Given the description of an element on the screen output the (x, y) to click on. 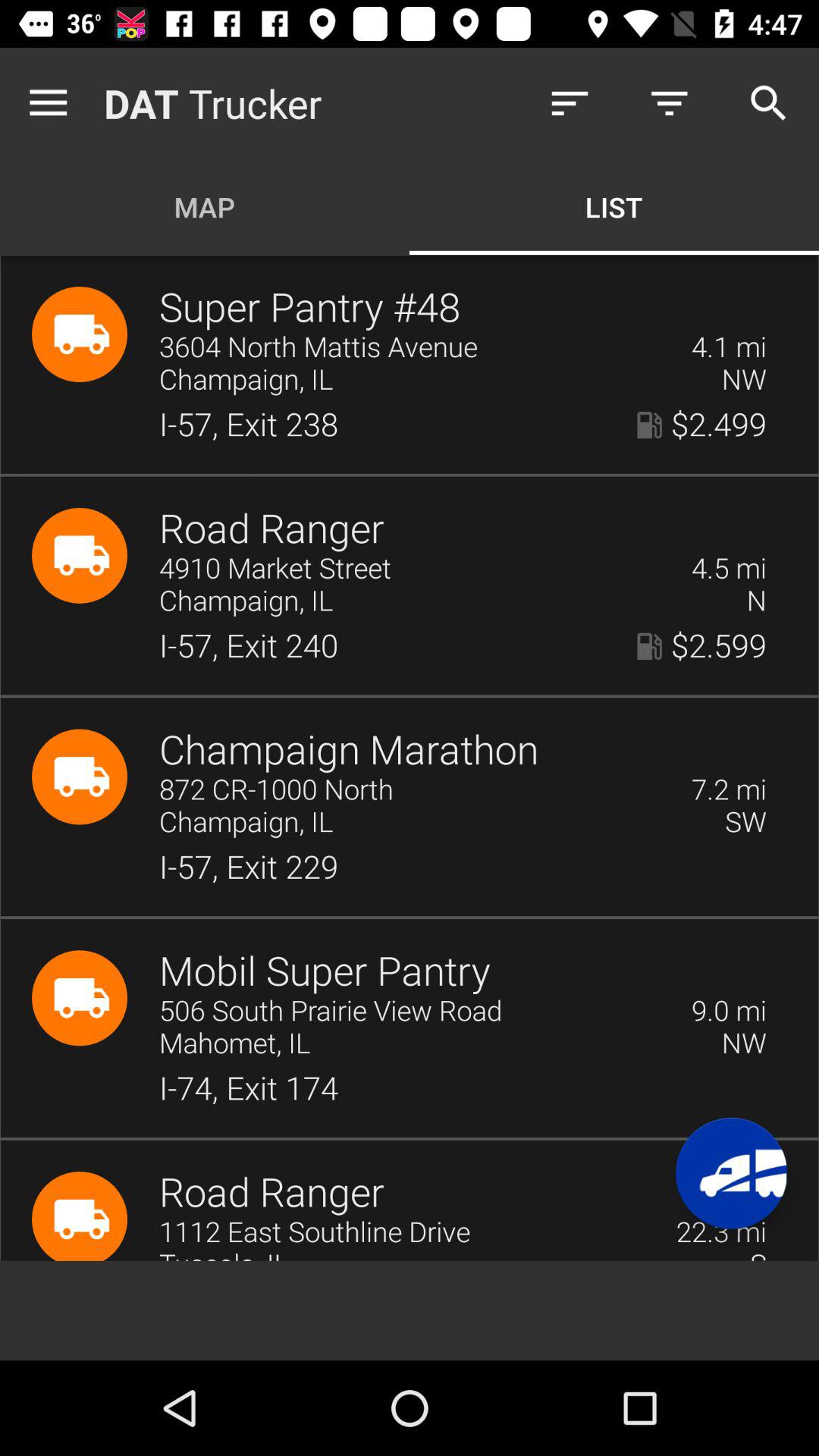
select the first icon on the web page (79, 333)
